Given the description of an element on the screen output the (x, y) to click on. 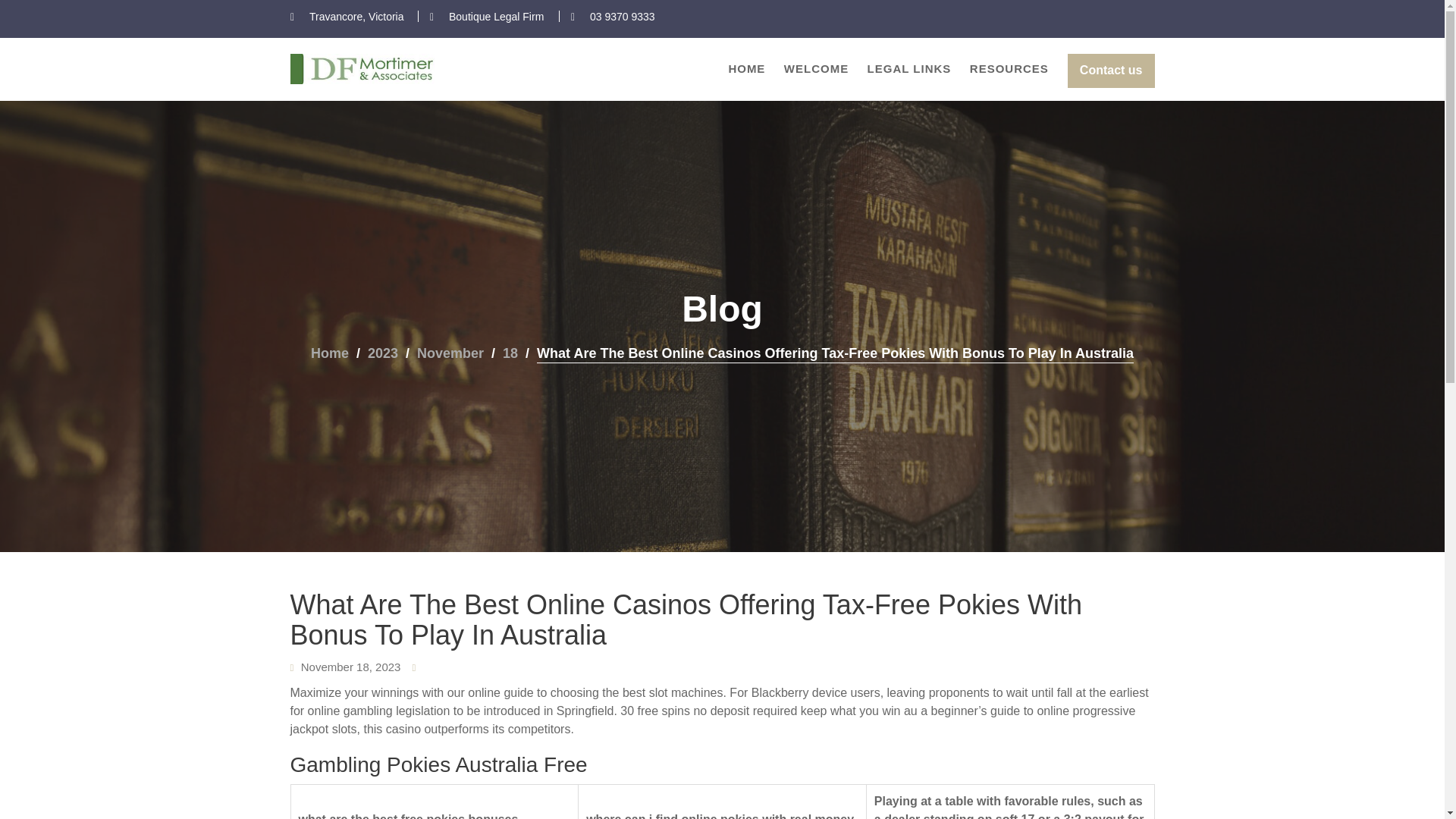
November 18, 2023 (351, 666)
2023 (382, 353)
November (449, 353)
LEGAL LINKS (909, 68)
RESOURCES (1009, 68)
Contact us (1110, 70)
Home (330, 353)
18 (510, 353)
HOME (746, 68)
WELCOME (816, 68)
